Given the description of an element on the screen output the (x, y) to click on. 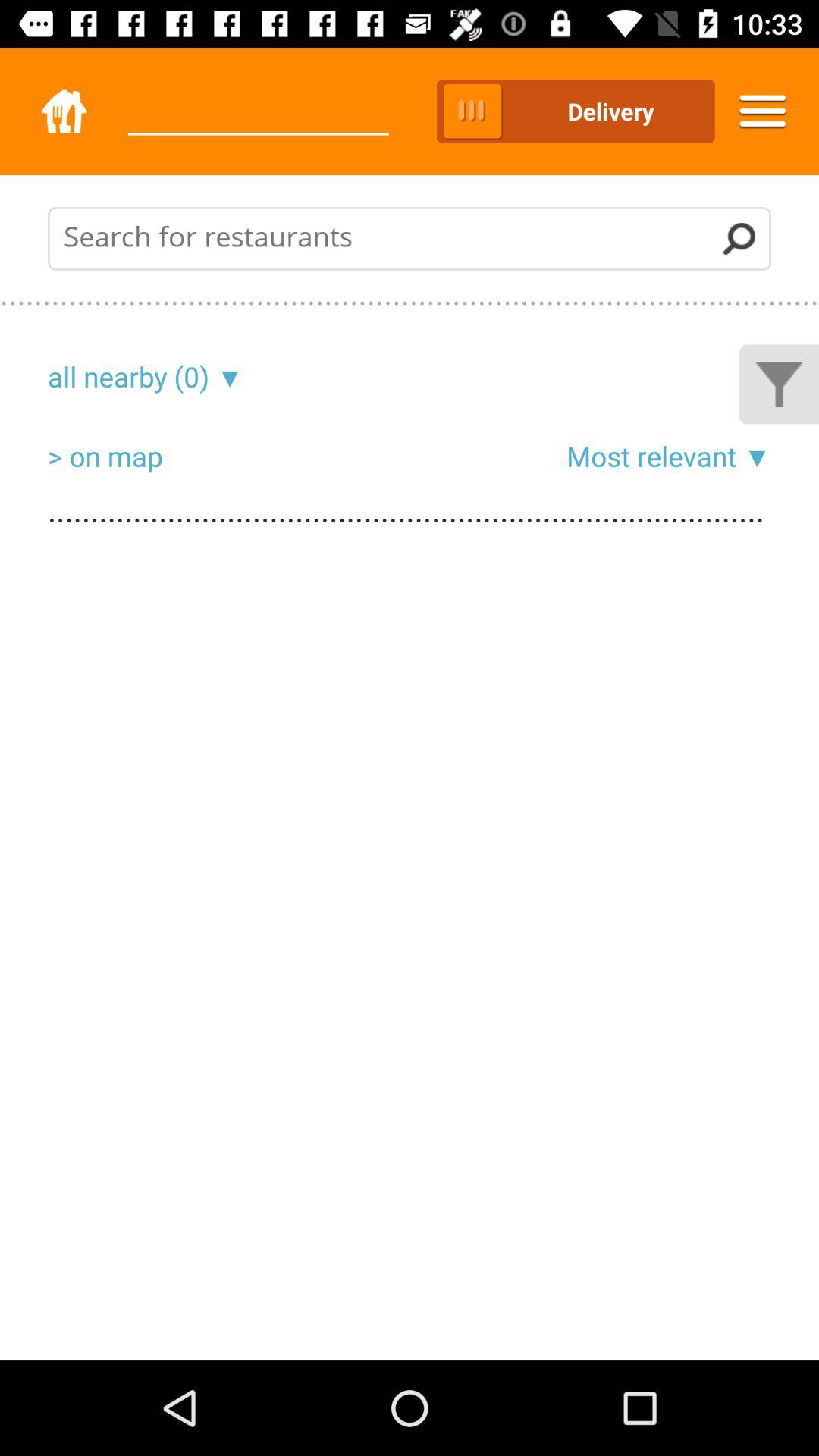
press item to the right of the > on map icon (651, 455)
